Given the description of an element on the screen output the (x, y) to click on. 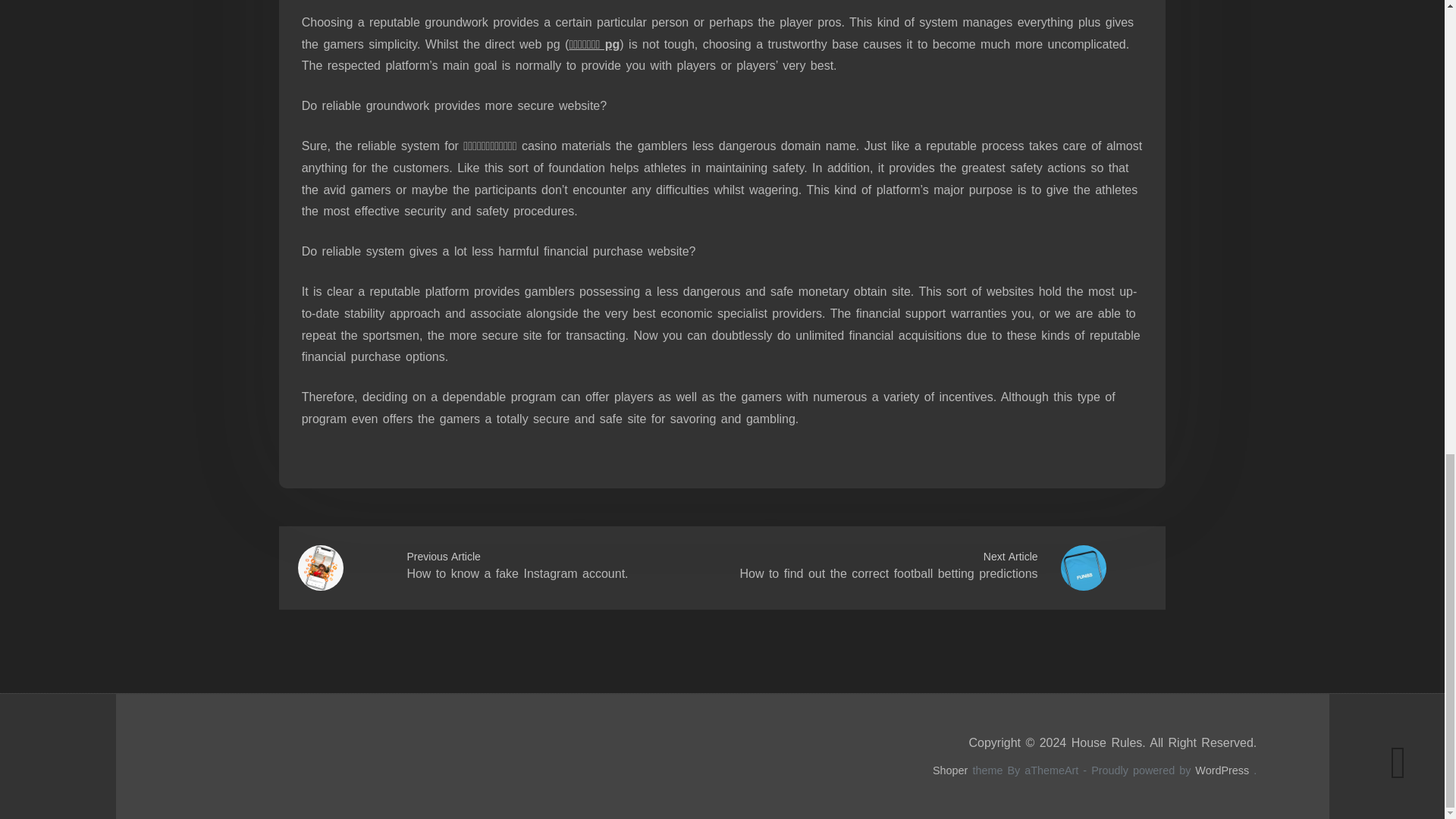
How to know a fake Instagram account. (516, 573)
WordPress (1222, 770)
Shoper (950, 770)
How to find out the correct football betting predictions (887, 573)
